Given the description of an element on the screen output the (x, y) to click on. 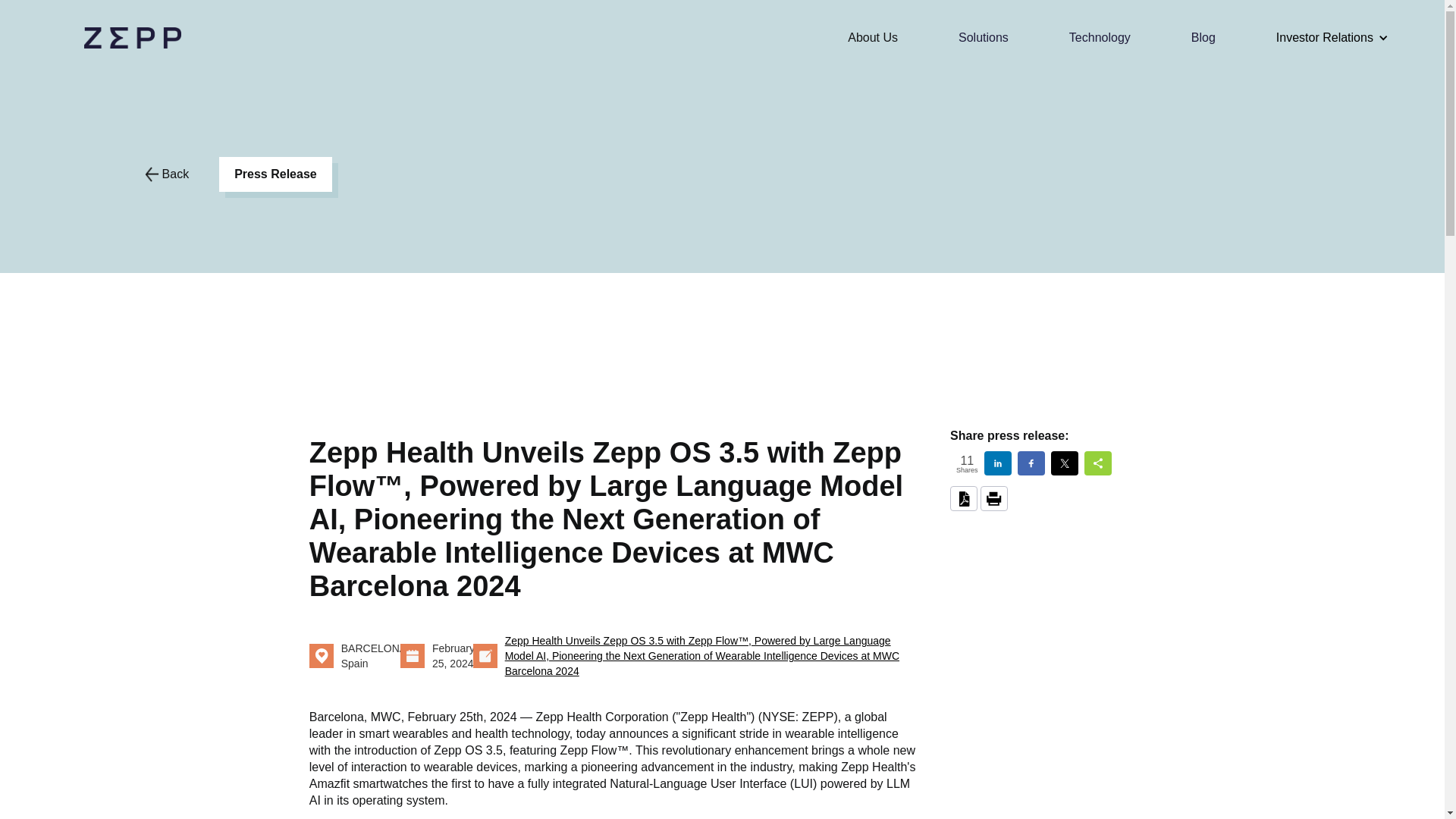
Technology (1099, 37)
Back (166, 174)
Solutions (983, 37)
Blog (1203, 37)
Investor Relations (1324, 37)
About Us (872, 37)
